Given the description of an element on the screen output the (x, y) to click on. 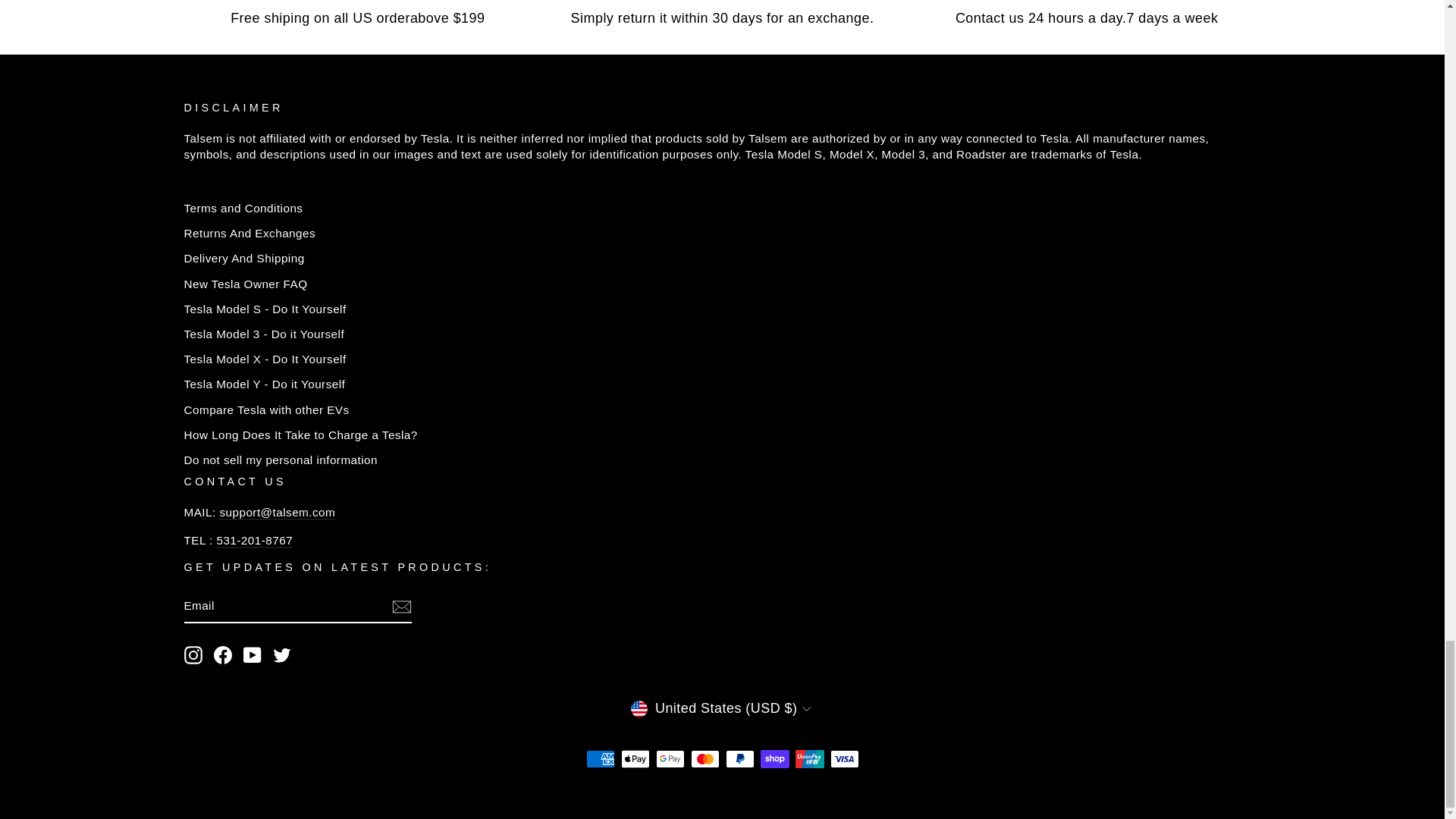
TALSEM on Twitter (282, 655)
TALSEM on YouTube (251, 655)
Google Pay (669, 759)
TALSEM on Instagram (192, 655)
TALSEM on Facebook (222, 655)
American Express (599, 759)
Apple Pay (634, 759)
